Given the description of an element on the screen output the (x, y) to click on. 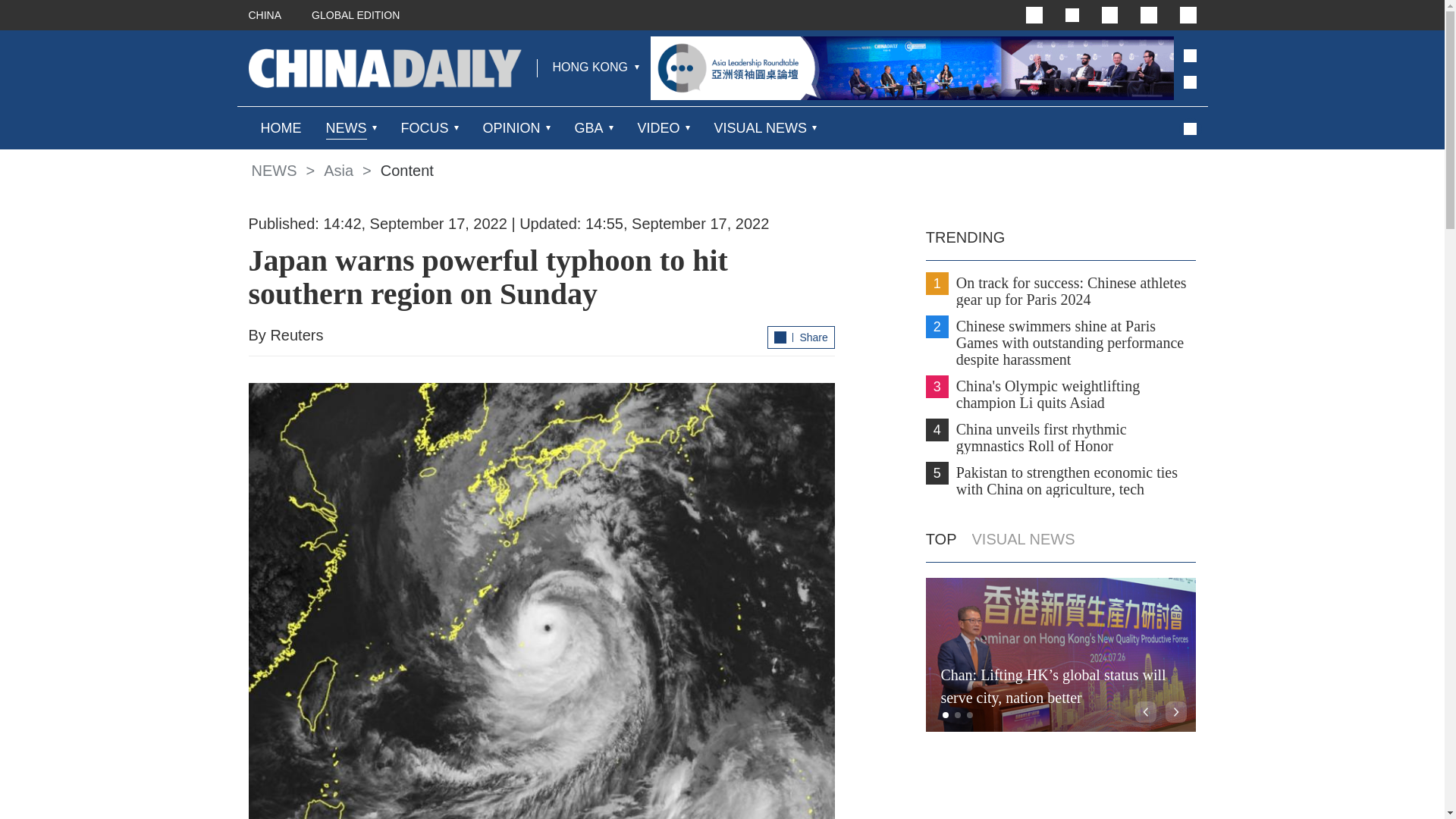
CHINA (265, 15)
GBA (589, 127)
GLOBAL EDITION (354, 15)
HOME (280, 127)
OPINION (510, 127)
